Given the description of an element on the screen output the (x, y) to click on. 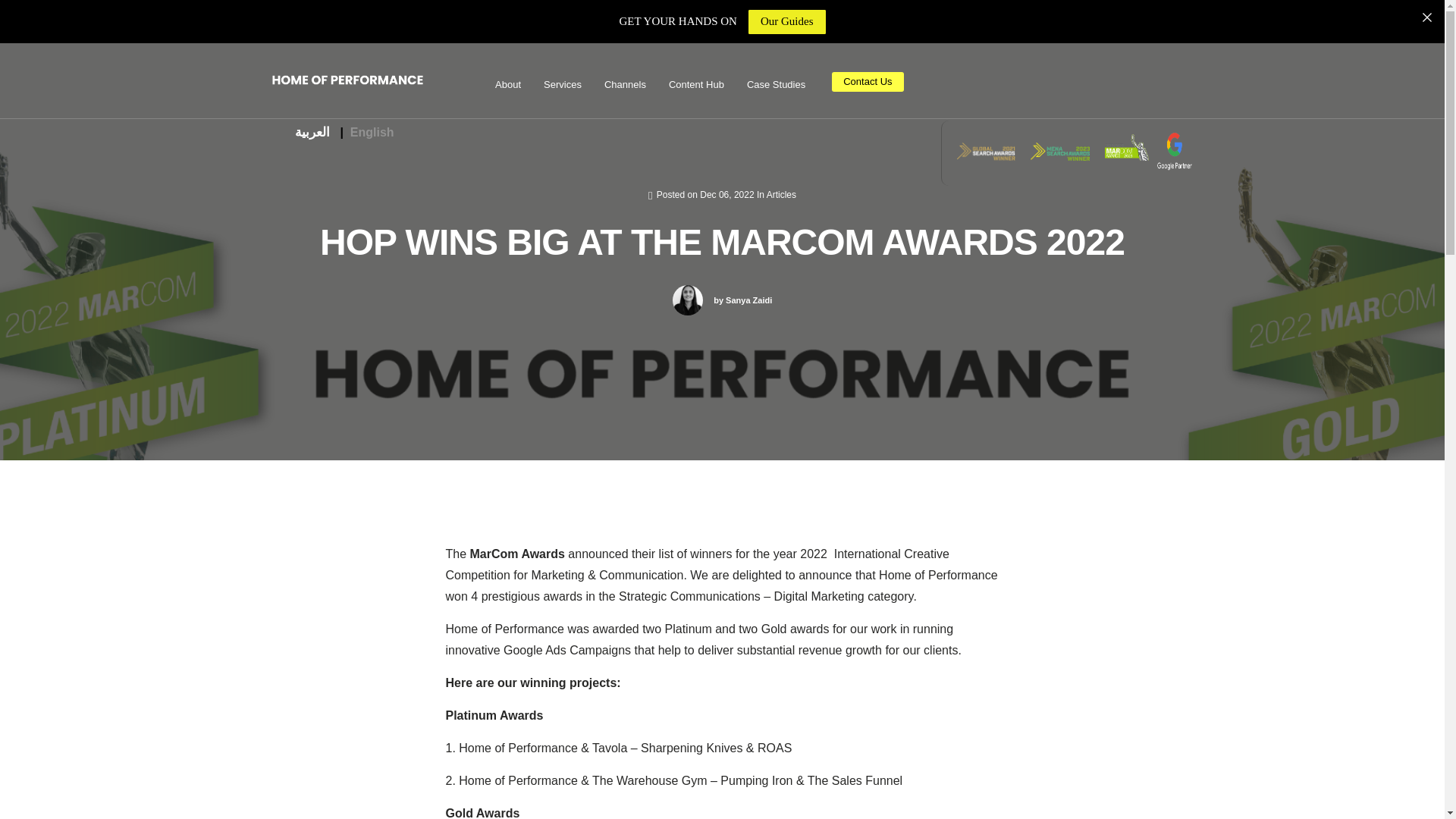
Close (1426, 17)
